Given the description of an element on the screen output the (x, y) to click on. 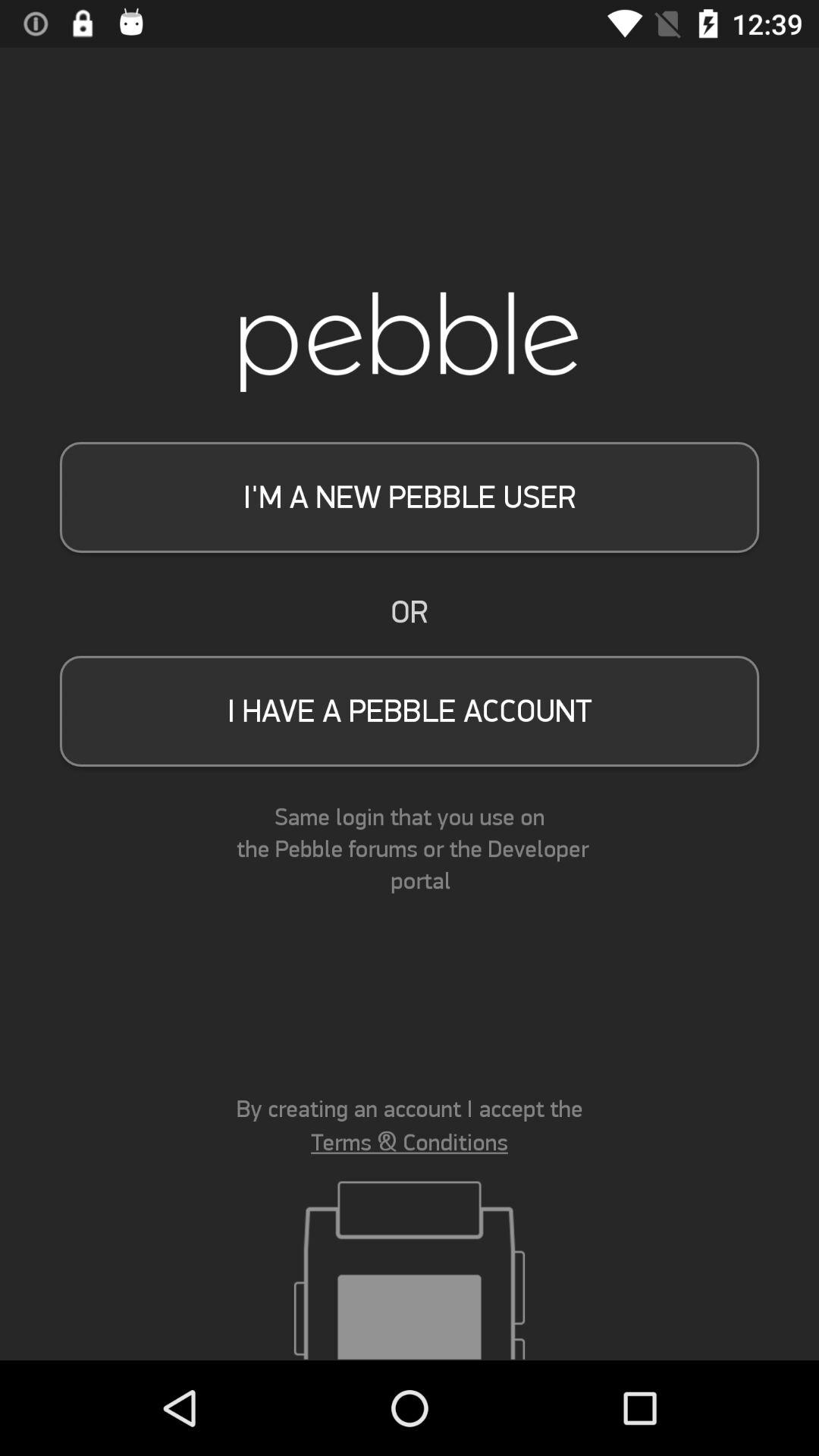
scroll to the terms & conditions (409, 1142)
